Given the description of an element on the screen output the (x, y) to click on. 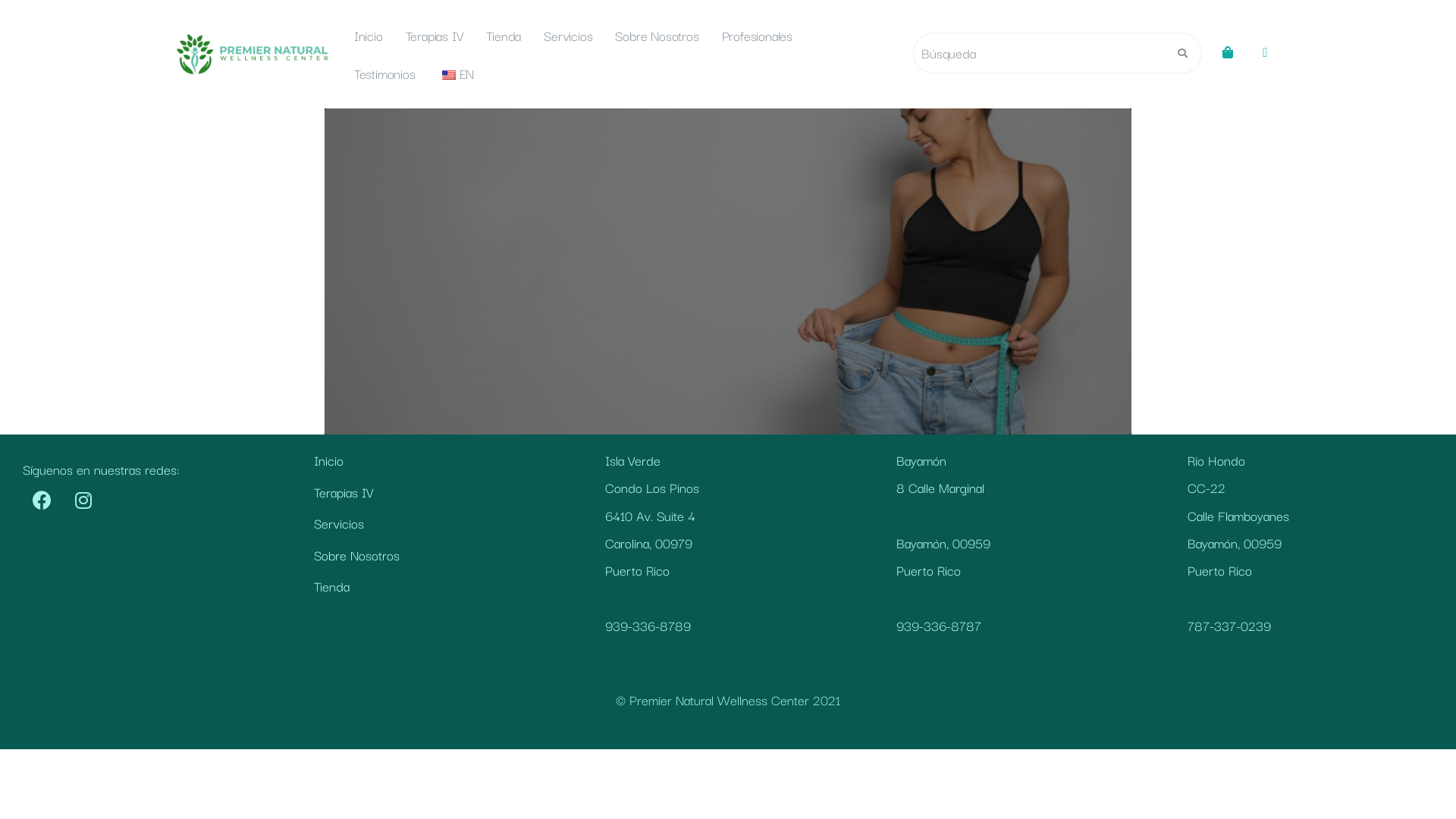
Tienda Element type: text (436, 586)
Profesionales Element type: text (756, 35)
EN Element type: text (456, 73)
Inicio Element type: text (436, 460)
English Element type: hover (448, 74)
Tienda Element type: text (503, 35)
Terapias IV Element type: text (434, 35)
Testimonios Element type: text (384, 73)
Terapias IV Element type: text (436, 492)
Servicios Element type: text (567, 35)
Search Element type: hover (1038, 52)
Sobre Nosotros Element type: text (656, 35)
Servicios Element type: text (436, 523)
Sobre Nosotros Element type: text (436, 555)
Inicio Element type: text (368, 35)
